Given the description of an element on the screen output the (x, y) to click on. 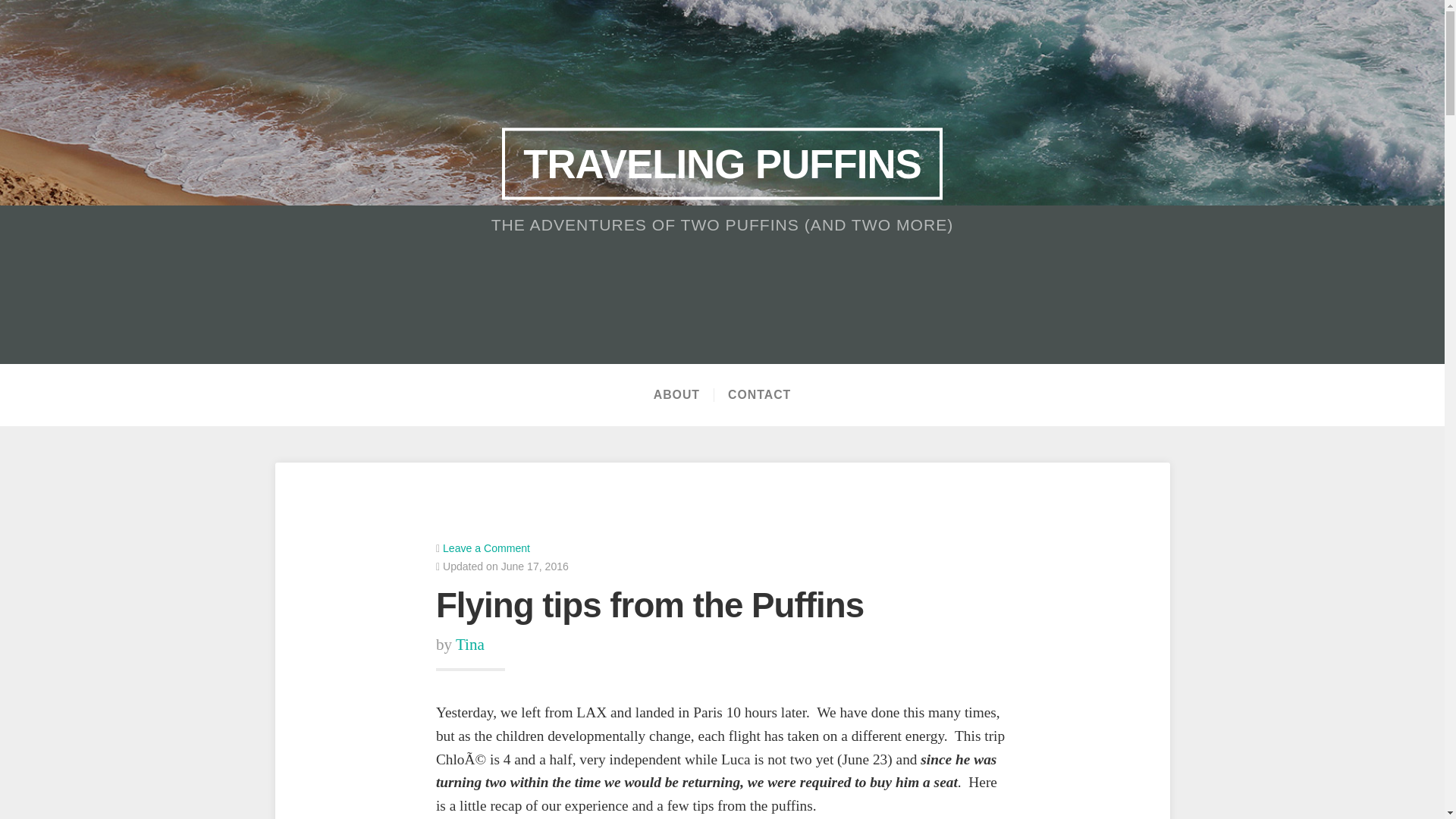
TRAVELING PUFFINS (722, 163)
Leave a Comment (485, 548)
Tina (469, 644)
ABOUT (676, 395)
CONTACT (759, 395)
Posts by Tina (469, 644)
